Given the description of an element on the screen output the (x, y) to click on. 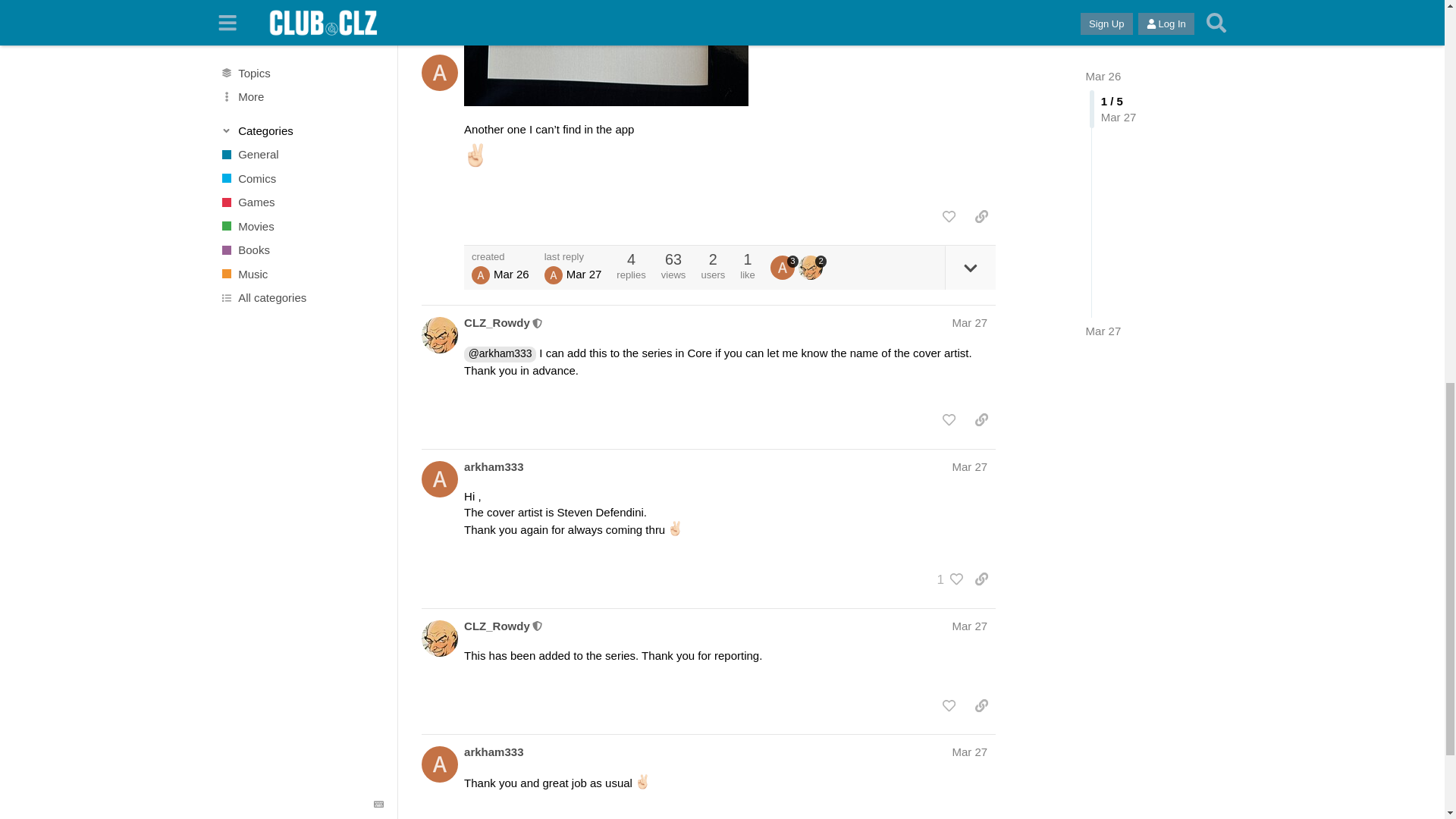
like this post (948, 216)
copy a link to this post to clipboard (981, 216)
last reply (573, 256)
2 (812, 267)
:v:t2: (475, 155)
3 (783, 267)
